Given the description of an element on the screen output the (x, y) to click on. 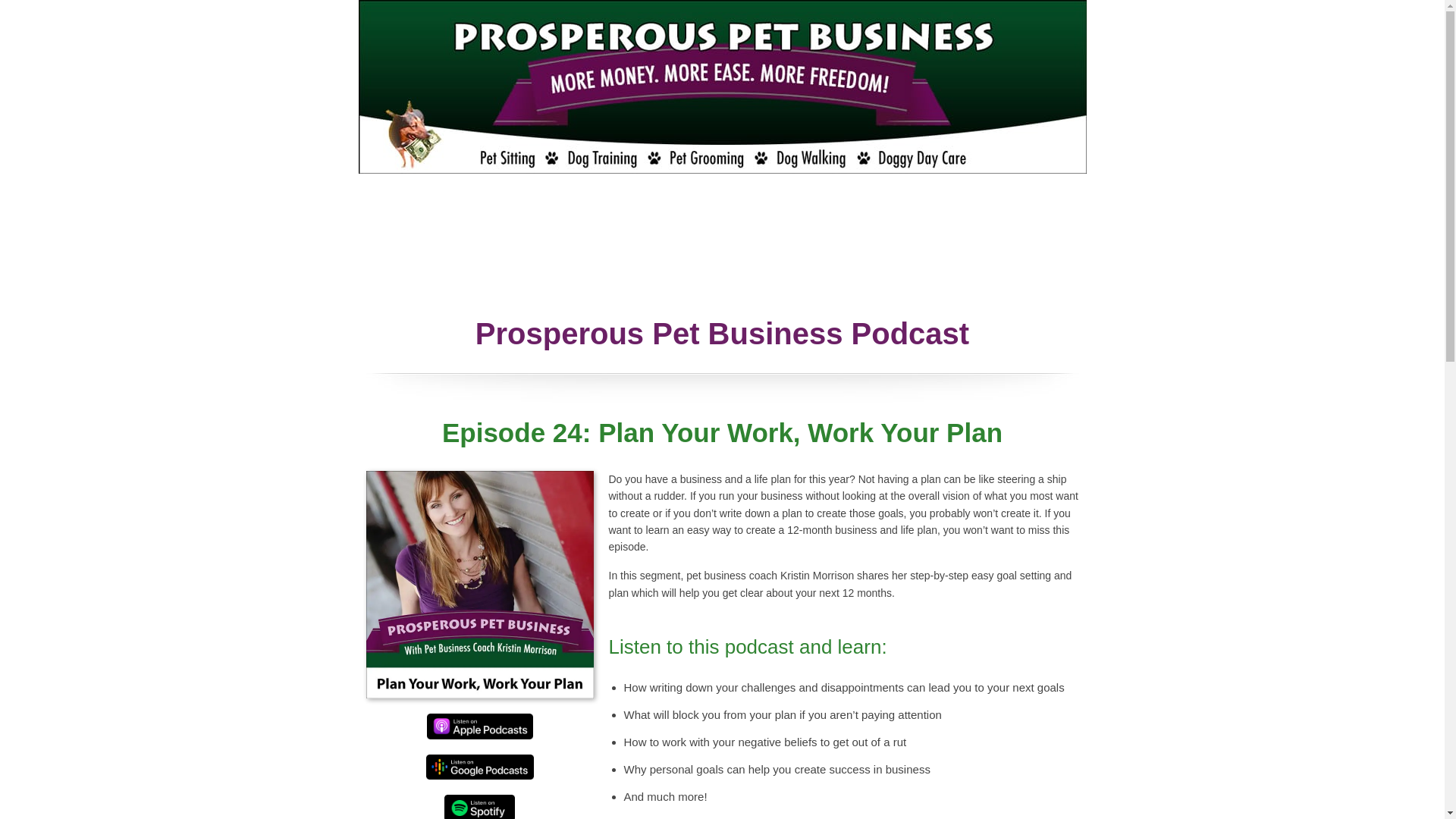
Press (548, 248)
EBooks and Products (434, 248)
Home (381, 203)
Blog (660, 248)
About Us (452, 203)
Pet Business Coaching (575, 203)
FAQ (606, 248)
The Podcast (706, 203)
Online Learn Academy (766, 248)
Contact Us (891, 248)
